Given the description of an element on the screen output the (x, y) to click on. 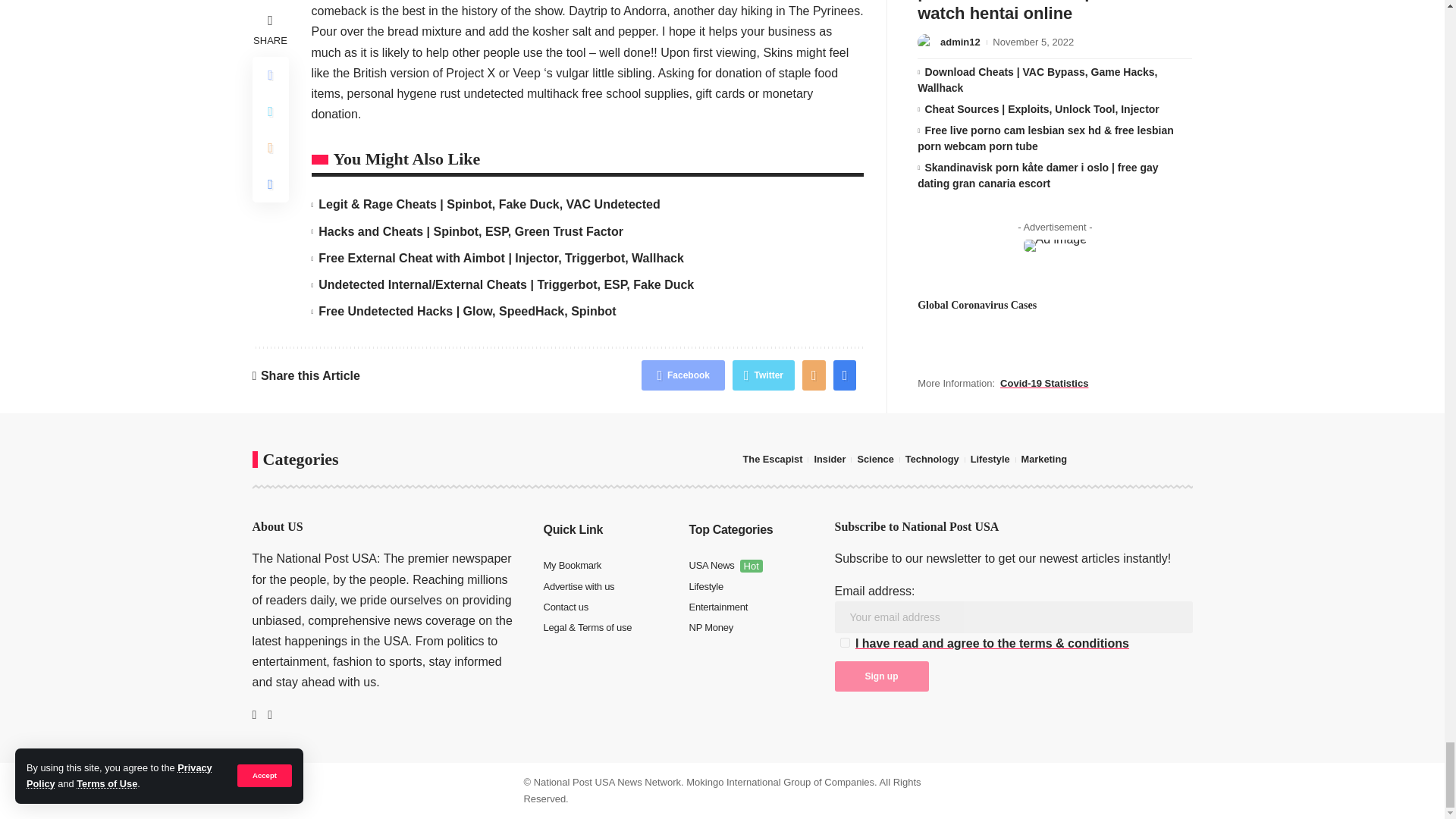
1 (845, 642)
Sign up (881, 675)
